Given the description of an element on the screen output the (x, y) to click on. 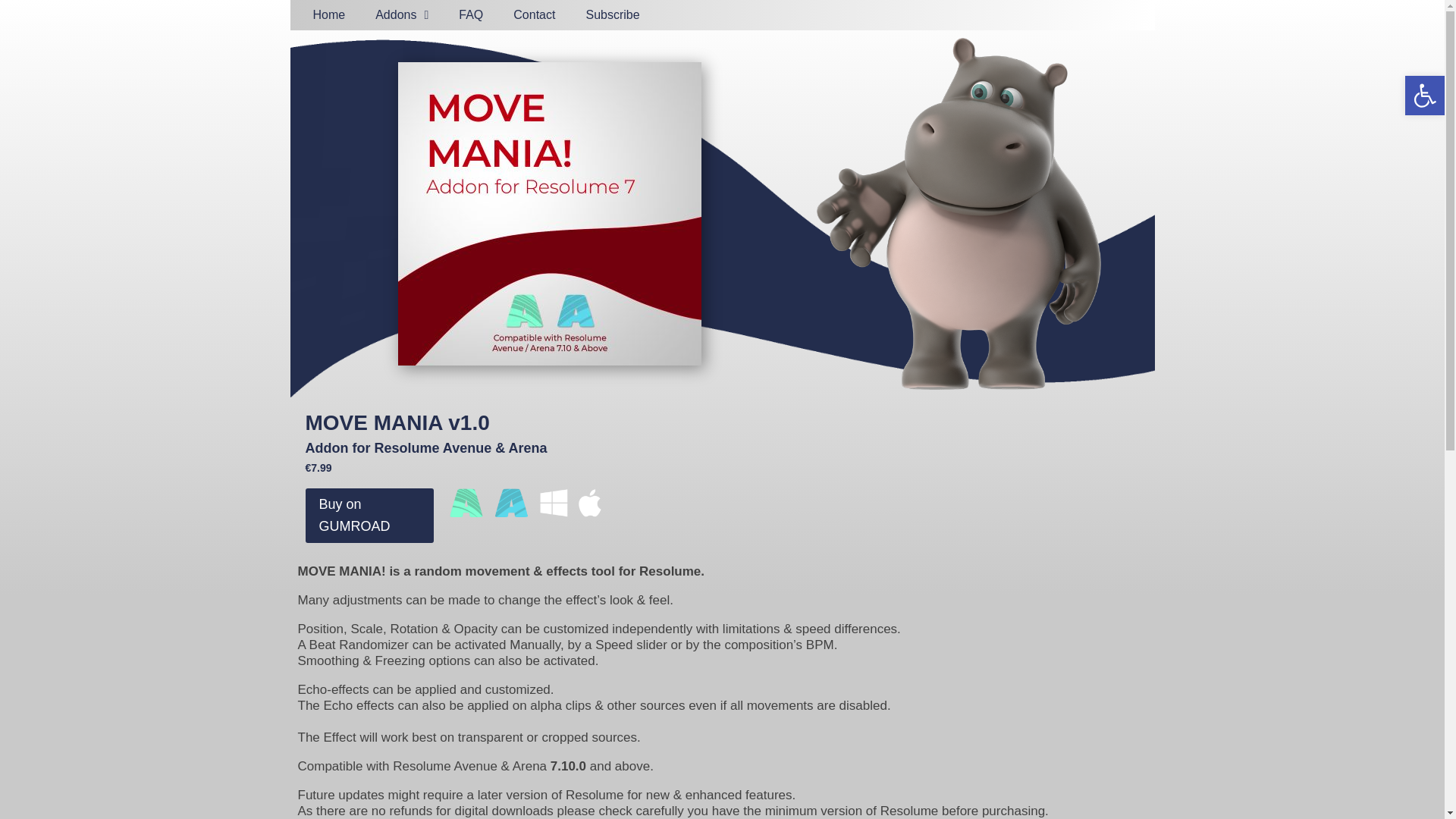
Home (328, 14)
Accessibility Tools (1424, 95)
MOVE MANIA (548, 213)
Addons (401, 14)
